Given the description of an element on the screen output the (x, y) to click on. 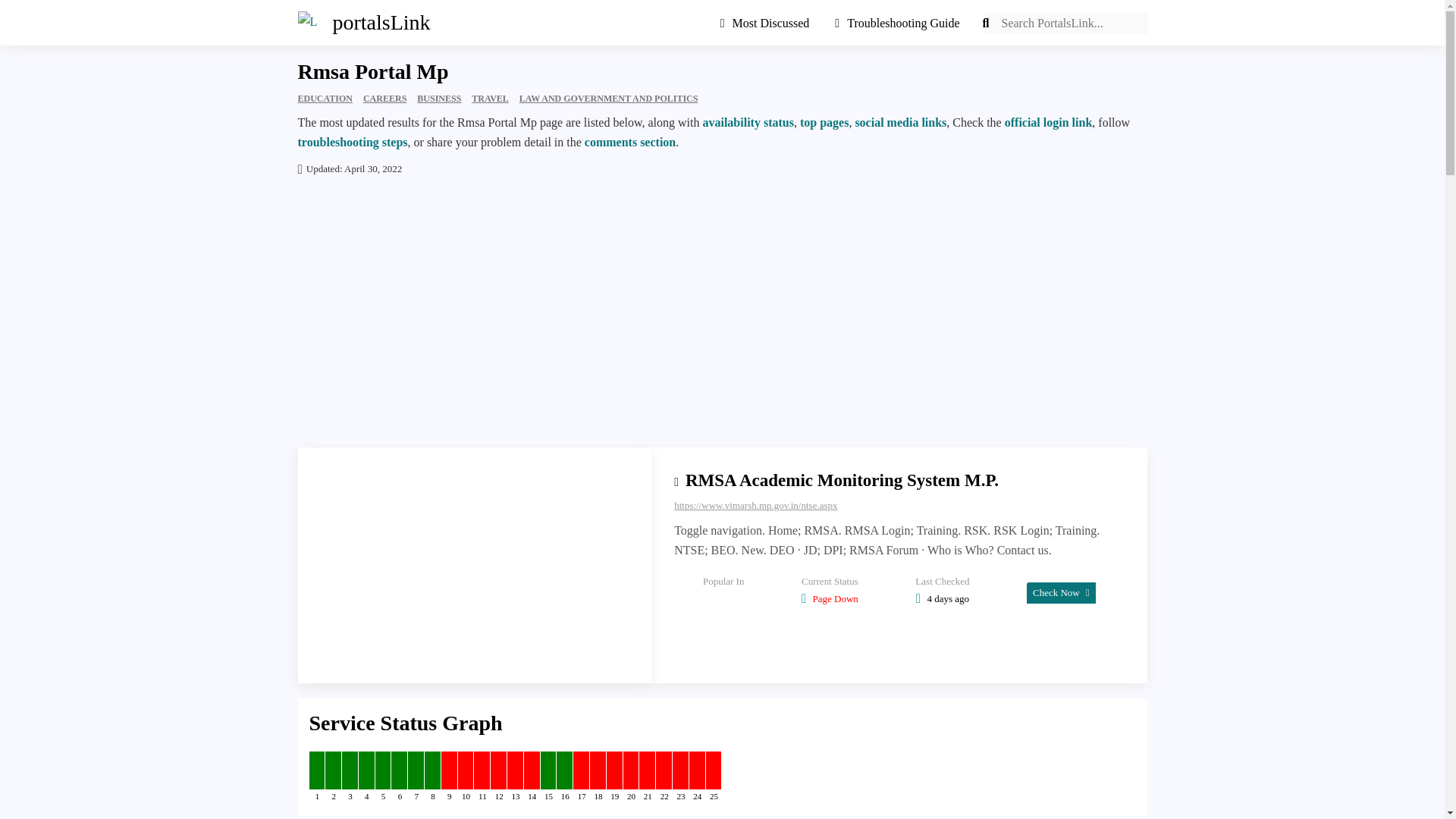
comments section (630, 141)
Recently Updated (770, 22)
social media links (900, 122)
Troubleshooting Guide (897, 22)
Check Now (1061, 592)
Login Troubleshooting Guide (897, 22)
official login link (1048, 122)
top pages (823, 122)
availability status (747, 122)
troubleshooting steps (352, 141)
portalsLink (355, 22)
RMSA Academic Monitoring System M.P. (841, 479)
RMSA Academic Monitoring System M.P. (841, 479)
Most Discussed (770, 22)
